Given the description of an element on the screen output the (x, y) to click on. 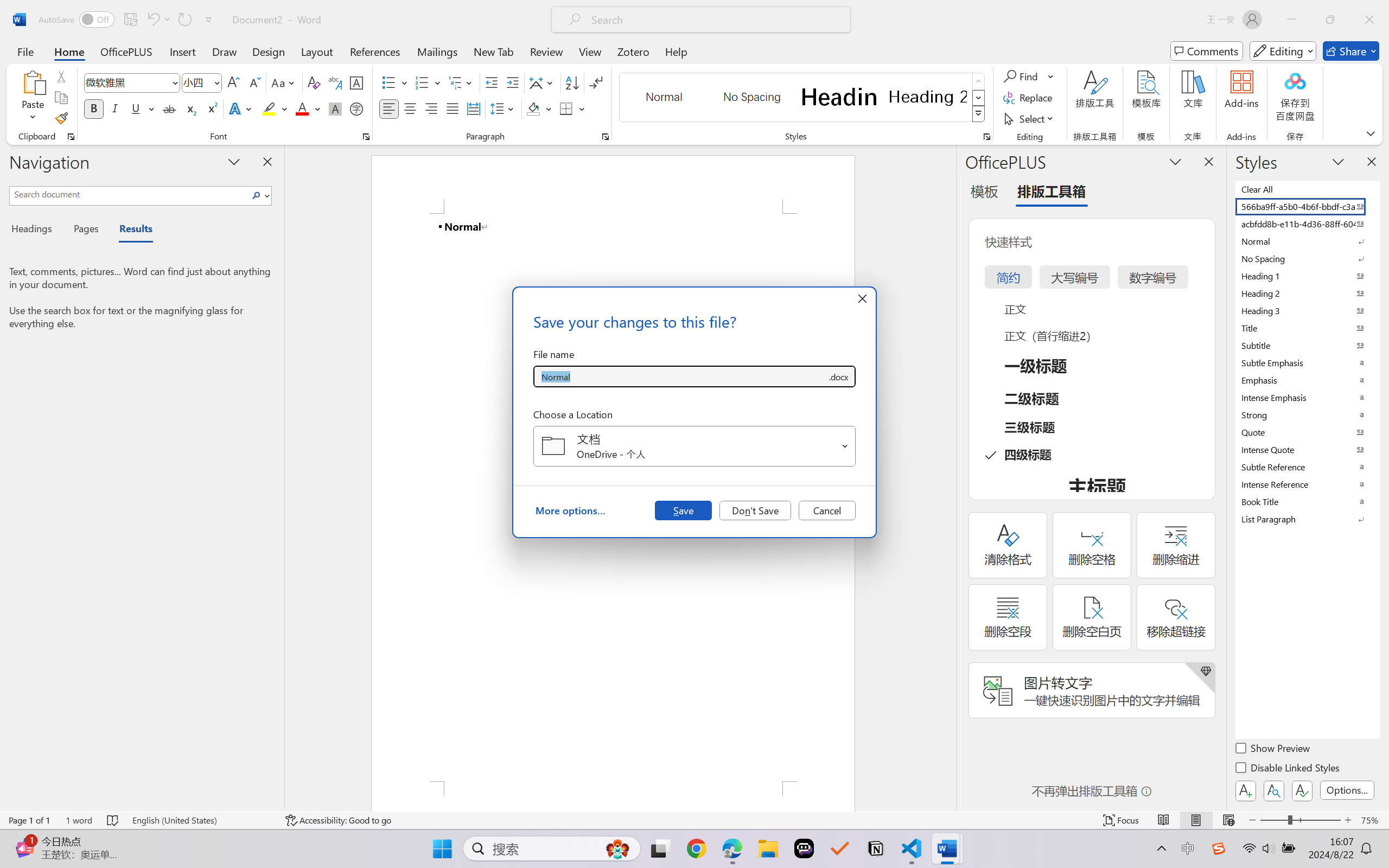
Character Shading (334, 108)
Numbering (421, 82)
Borders (566, 108)
Align Right (431, 108)
Headings (35, 229)
Class: MsoCommandBar (694, 819)
Bullets (395, 82)
Zotero (632, 51)
Underline (142, 108)
Help (675, 51)
Enclose Characters... (356, 108)
AutoSave (76, 19)
